Given the description of an element on the screen output the (x, y) to click on. 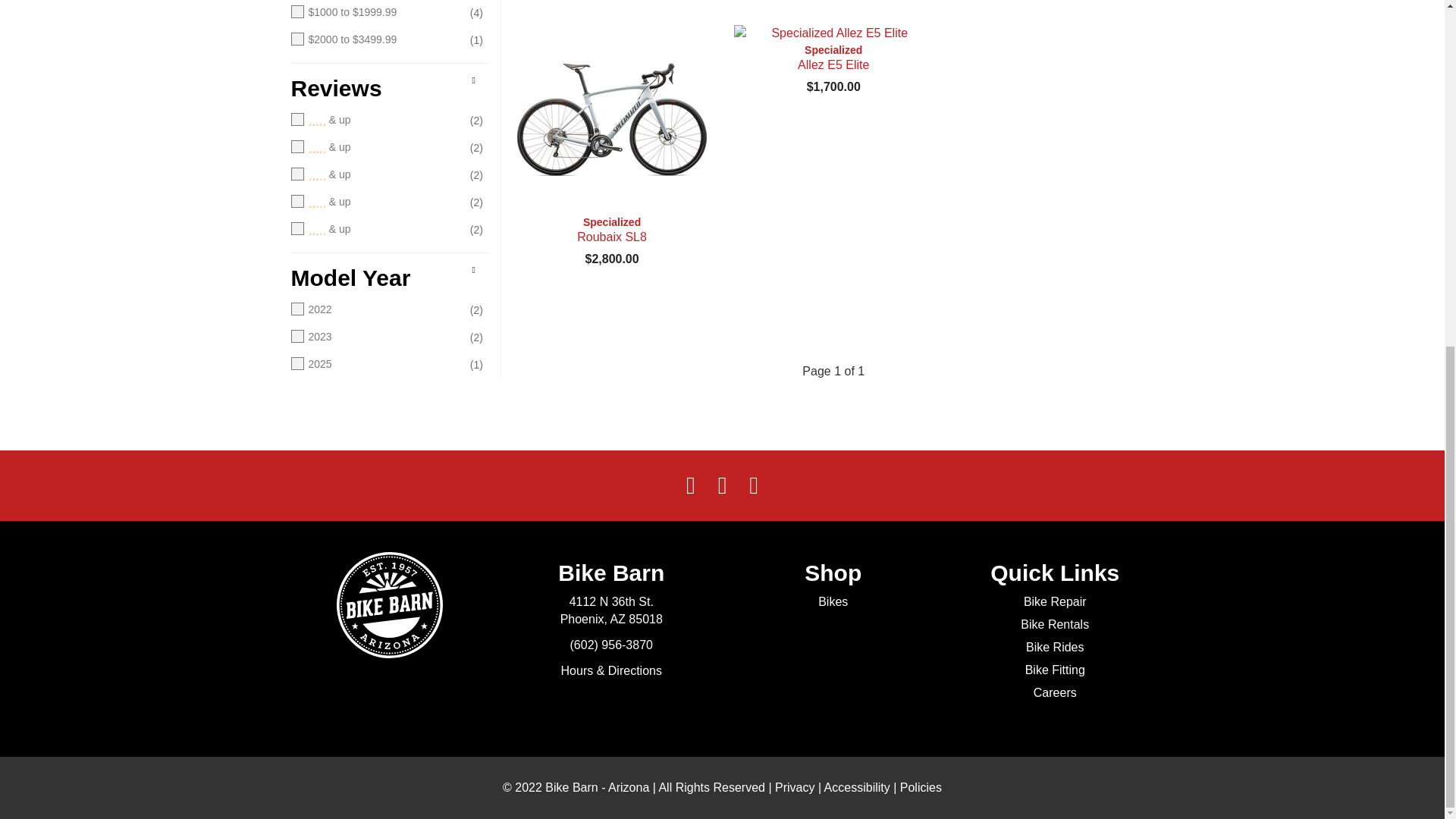
3 (374, 174)
5 (374, 120)
2 (374, 201)
1 (374, 229)
4 (374, 147)
